Given the description of an element on the screen output the (x, y) to click on. 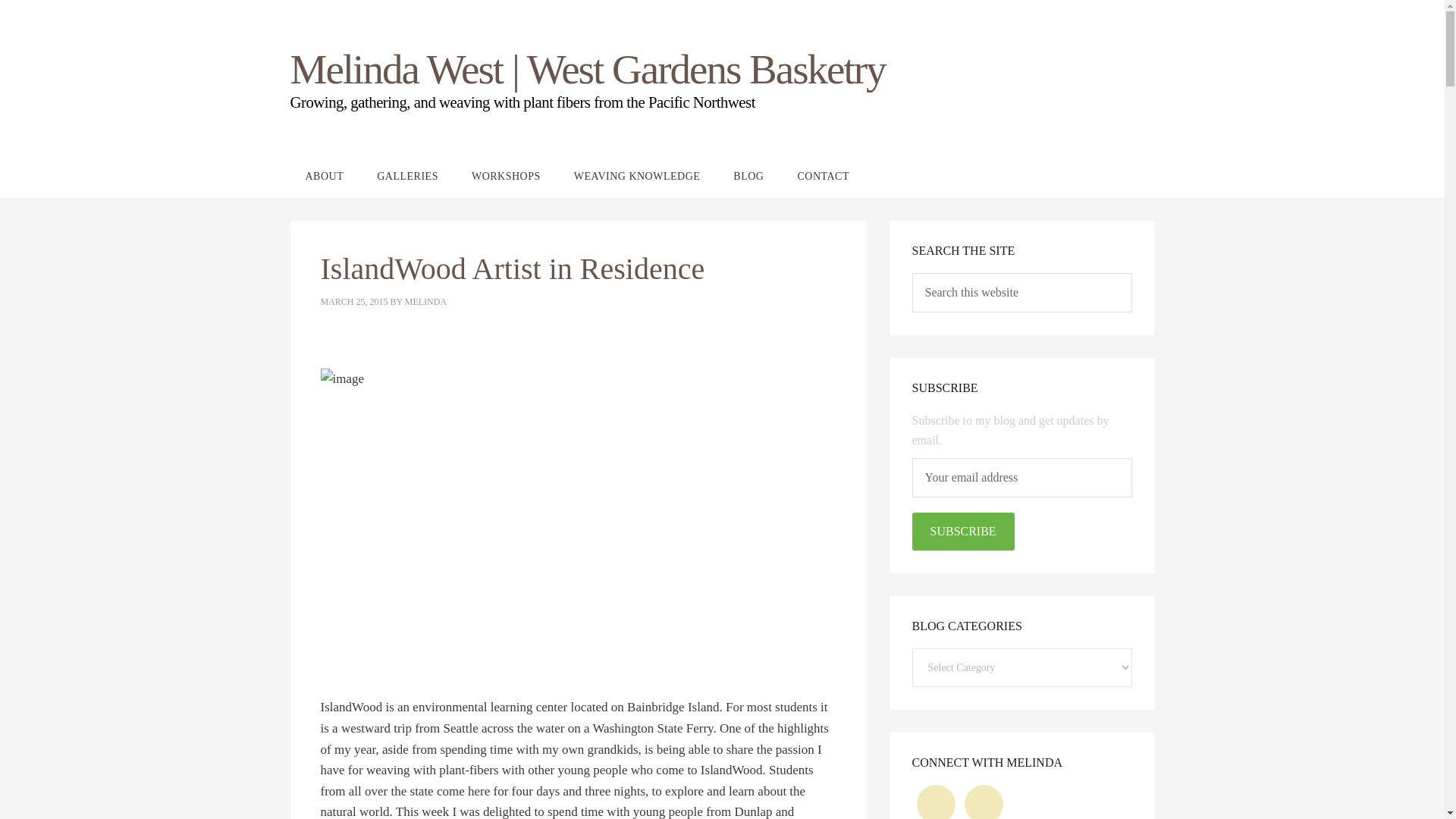
GALLERIES (406, 176)
WORKSHOPS (506, 176)
CONTACT (822, 176)
Subscribe (962, 531)
WEAVING KNOWLEDGE (637, 176)
BLOG (747, 176)
ABOUT (323, 176)
Subscribe (962, 531)
MELINDA (425, 301)
